Given the description of an element on the screen output the (x, y) to click on. 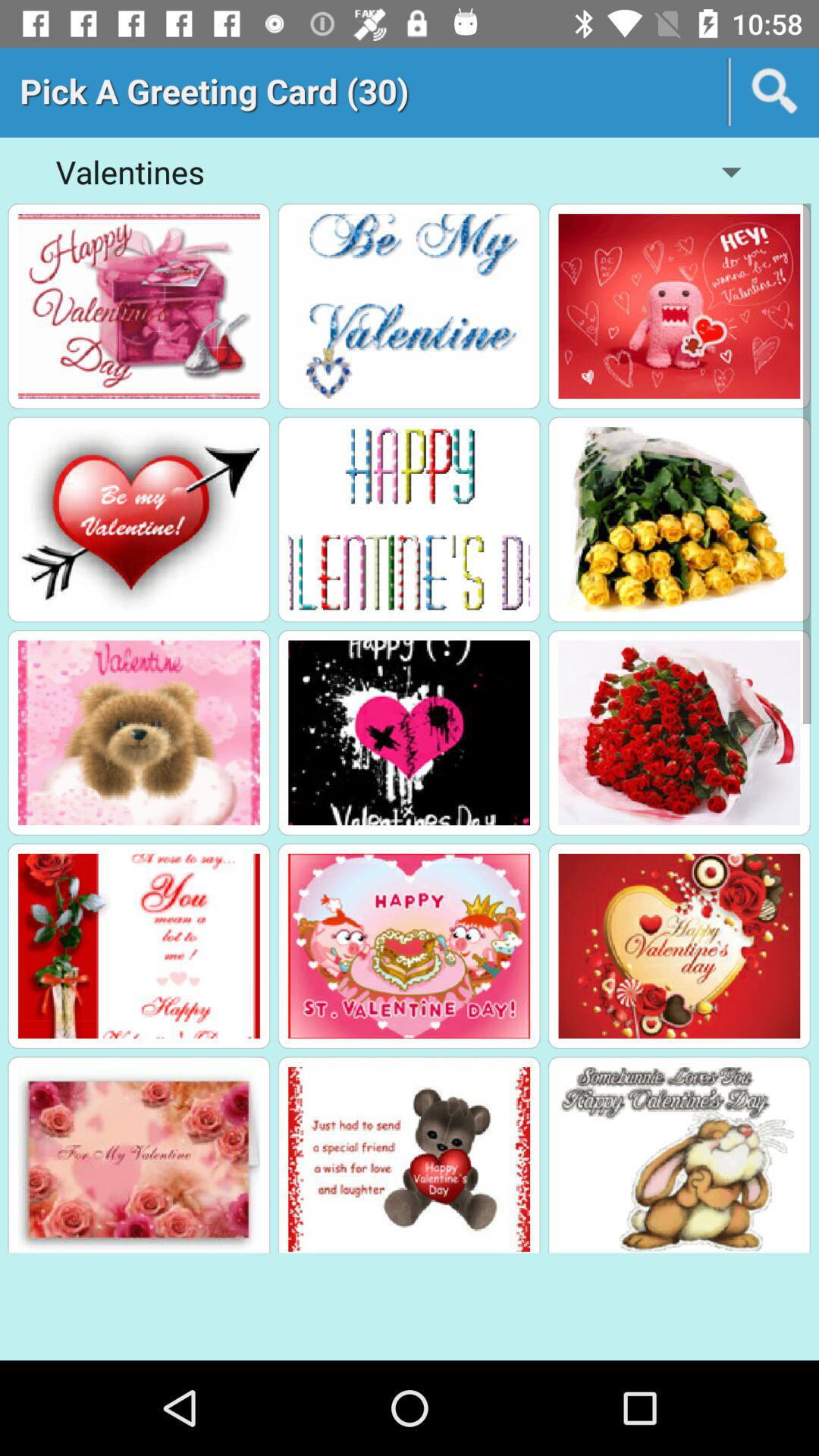
valentine days options (138, 945)
